Given the description of an element on the screen output the (x, y) to click on. 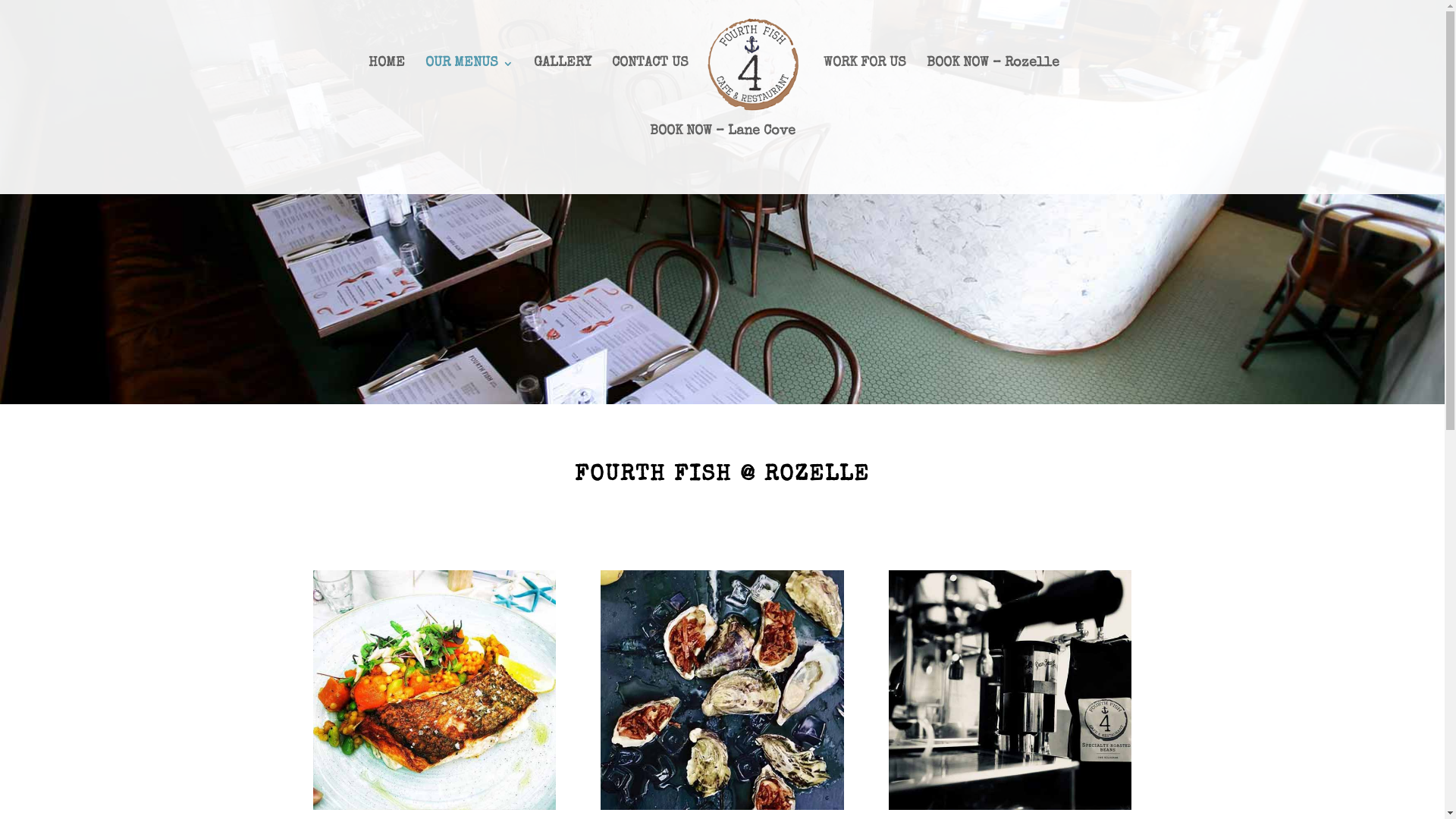
HOME Element type: text (386, 91)
CONTACT US Element type: text (649, 91)
OUR MENUS Element type: text (469, 91)
WORK FOR US Element type: text (864, 91)
GALLERY Element type: text (562, 91)
